Given the description of an element on the screen output the (x, y) to click on. 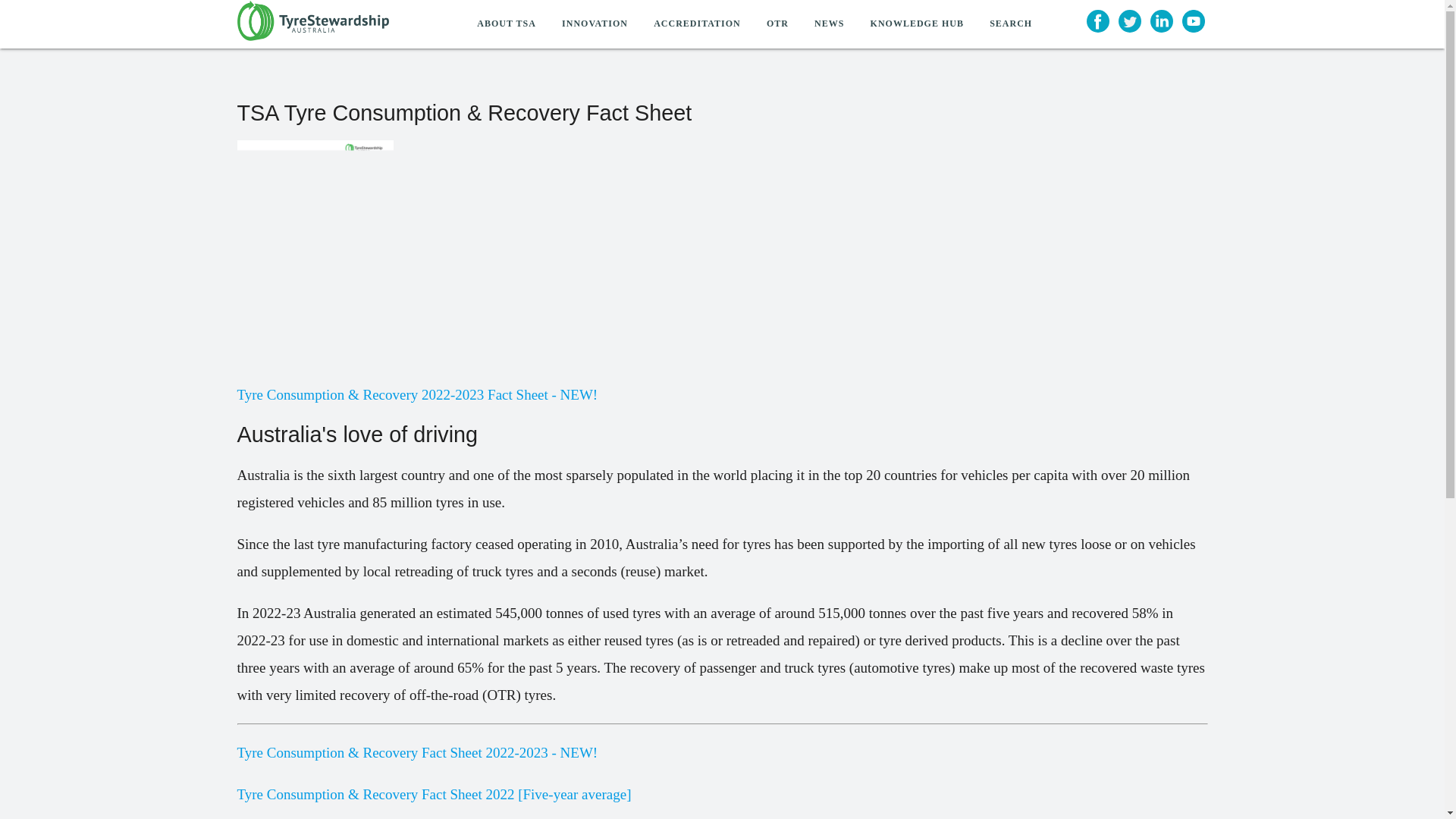
Youtube (1187, 15)
OTR (777, 23)
Linkedin (1155, 15)
Twitter (1124, 15)
Facebook (1092, 15)
ACCREDITATION (697, 23)
INNOVATION (594, 23)
NEWS (829, 23)
ABOUT TSA (506, 23)
